Given the description of an element on the screen output the (x, y) to click on. 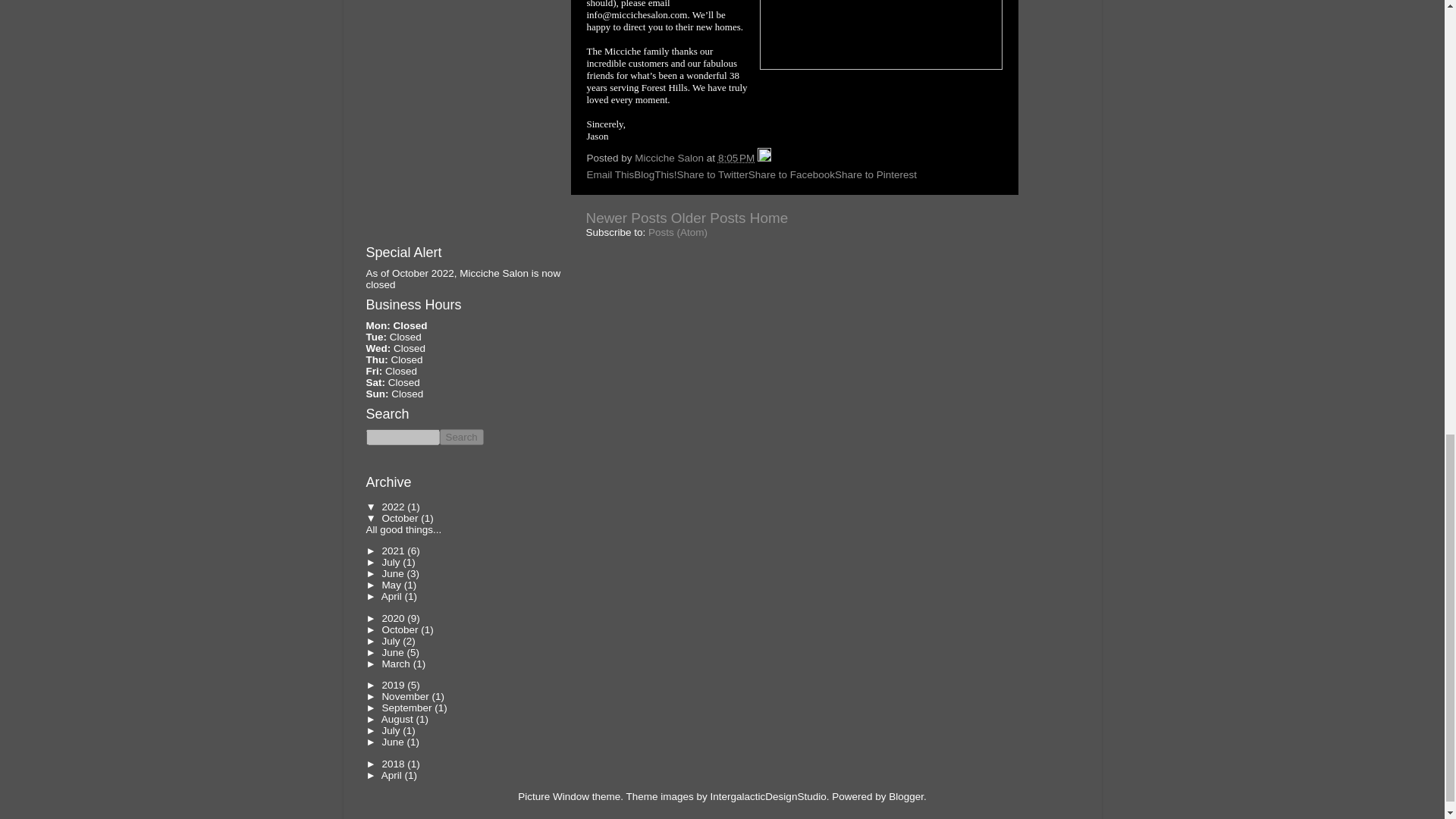
Share to Pinterest (875, 174)
June (393, 573)
Search (461, 437)
April (392, 595)
2022 (394, 506)
Search (461, 437)
All good things... (403, 529)
Email This (610, 174)
Share to Twitter (712, 174)
July (392, 562)
Share to Twitter (712, 174)
Search (461, 437)
Share to Facebook (791, 174)
Share to Facebook (791, 174)
